Given the description of an element on the screen output the (x, y) to click on. 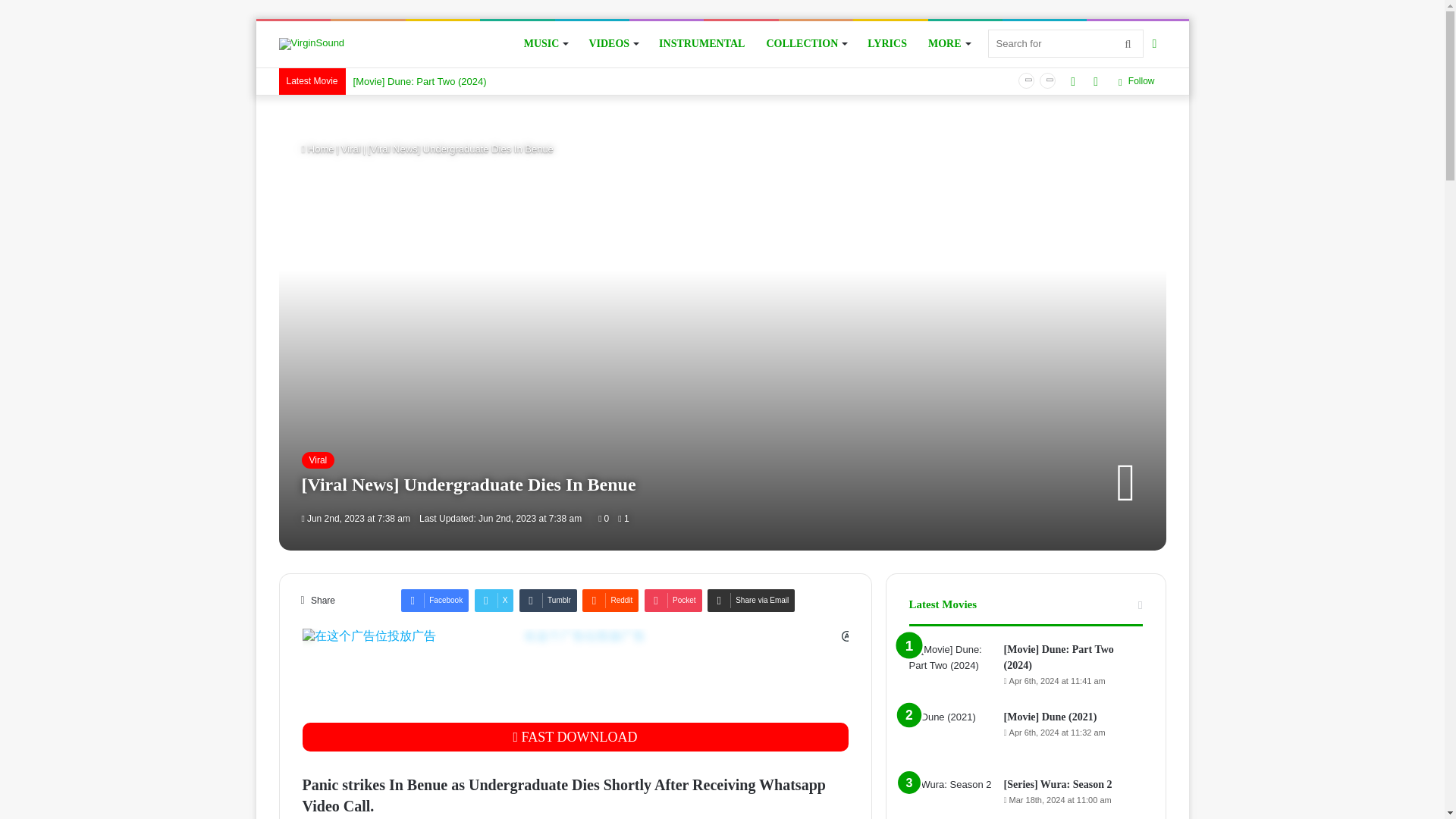
INSTRUMENTAL (701, 43)
LYRICS (887, 43)
X (493, 599)
COLLECTION (806, 43)
VirginSound (312, 43)
Search for (1064, 43)
Facebook (434, 599)
Pocket (673, 599)
Reddit (610, 599)
Tumblr (547, 599)
VIDEOS (612, 43)
MUSIC (545, 43)
MORE (948, 43)
